Given the description of an element on the screen output the (x, y) to click on. 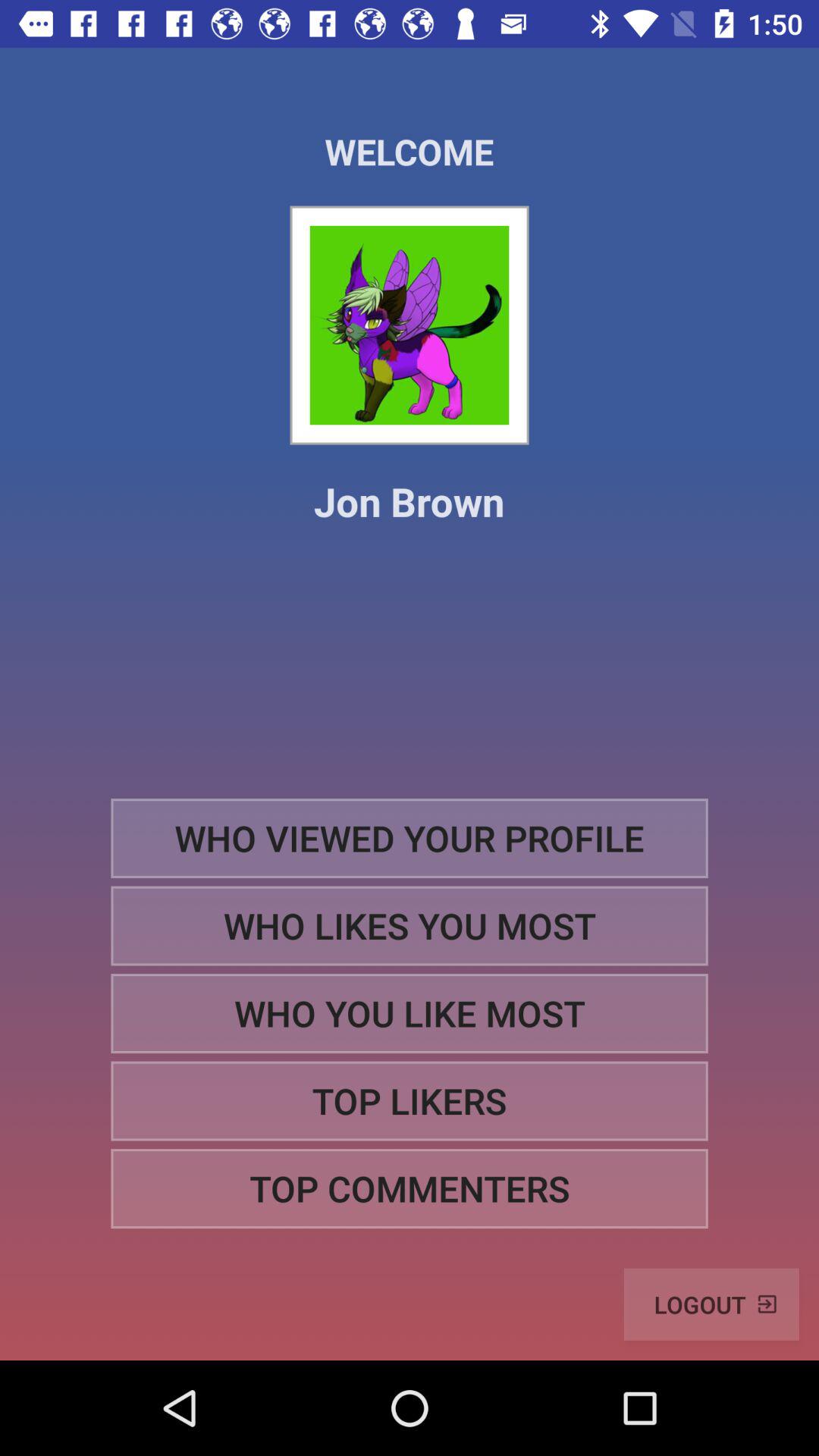
choose the item above the who likes you (409, 838)
